Given the description of an element on the screen output the (x, y) to click on. 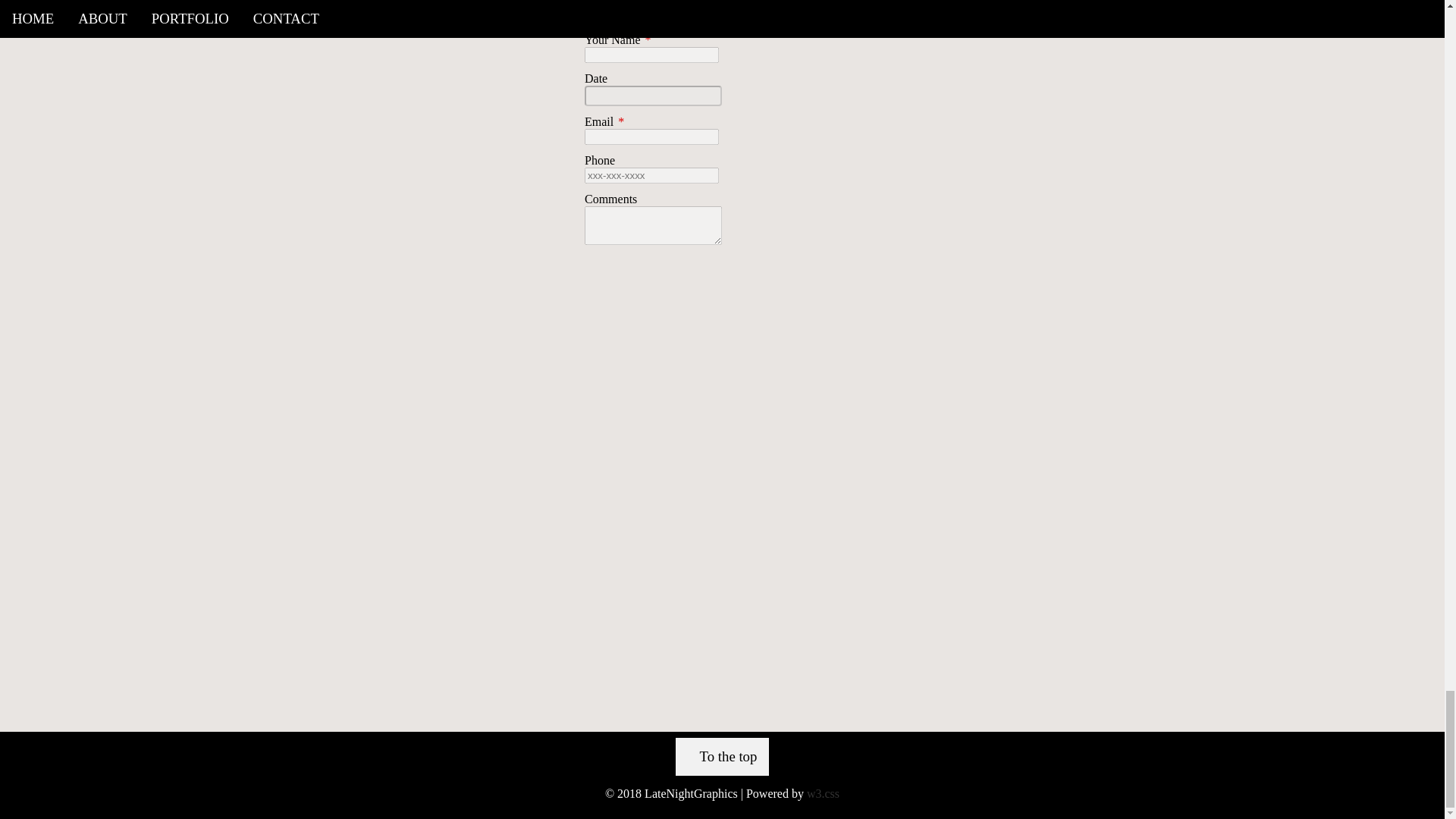
W3.CSS (823, 793)
To the top (722, 756)
w3.css (823, 793)
